Given the description of an element on the screen output the (x, y) to click on. 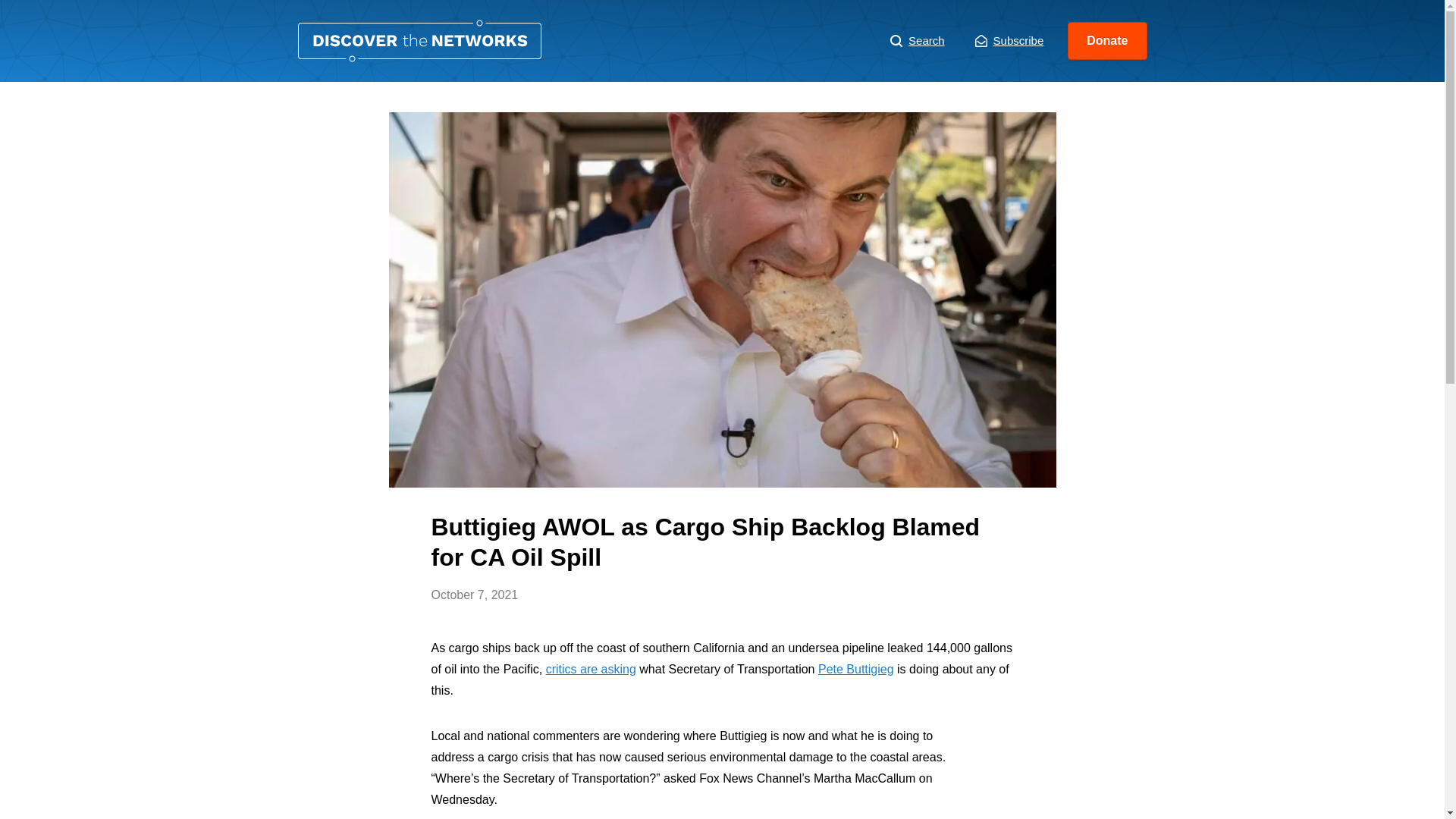
critics are asking (591, 668)
Buttigieg AWOL as Cargo Ship Backlog Blamed for CA Oil Spill (418, 40)
Search (916, 40)
Subscribe (1009, 40)
Pete Buttigieg (855, 668)
Donate (1107, 40)
